Given the description of an element on the screen output the (x, y) to click on. 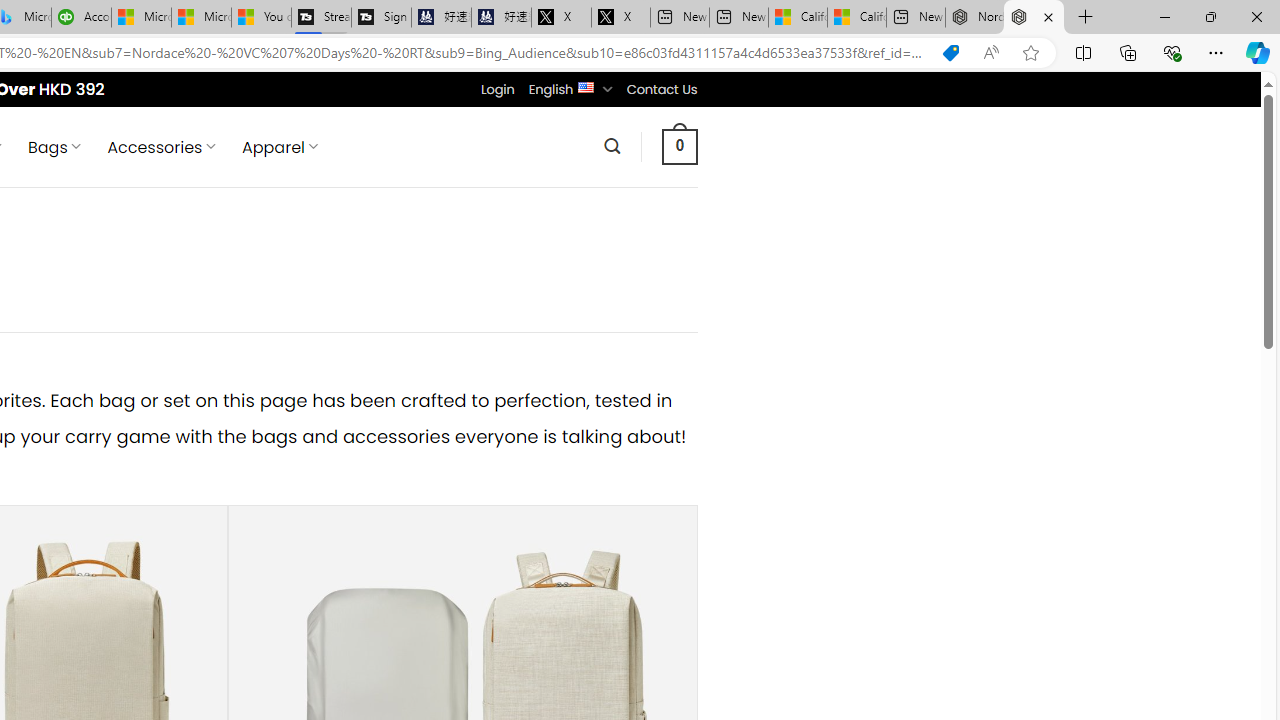
Nordace - Best Sellers (1033, 17)
Accounting Software for Accountants, CPAs and Bookkeepers (81, 17)
Streaming Coverage | T3 (320, 17)
English (586, 86)
